Given the description of an element on the screen output the (x, y) to click on. 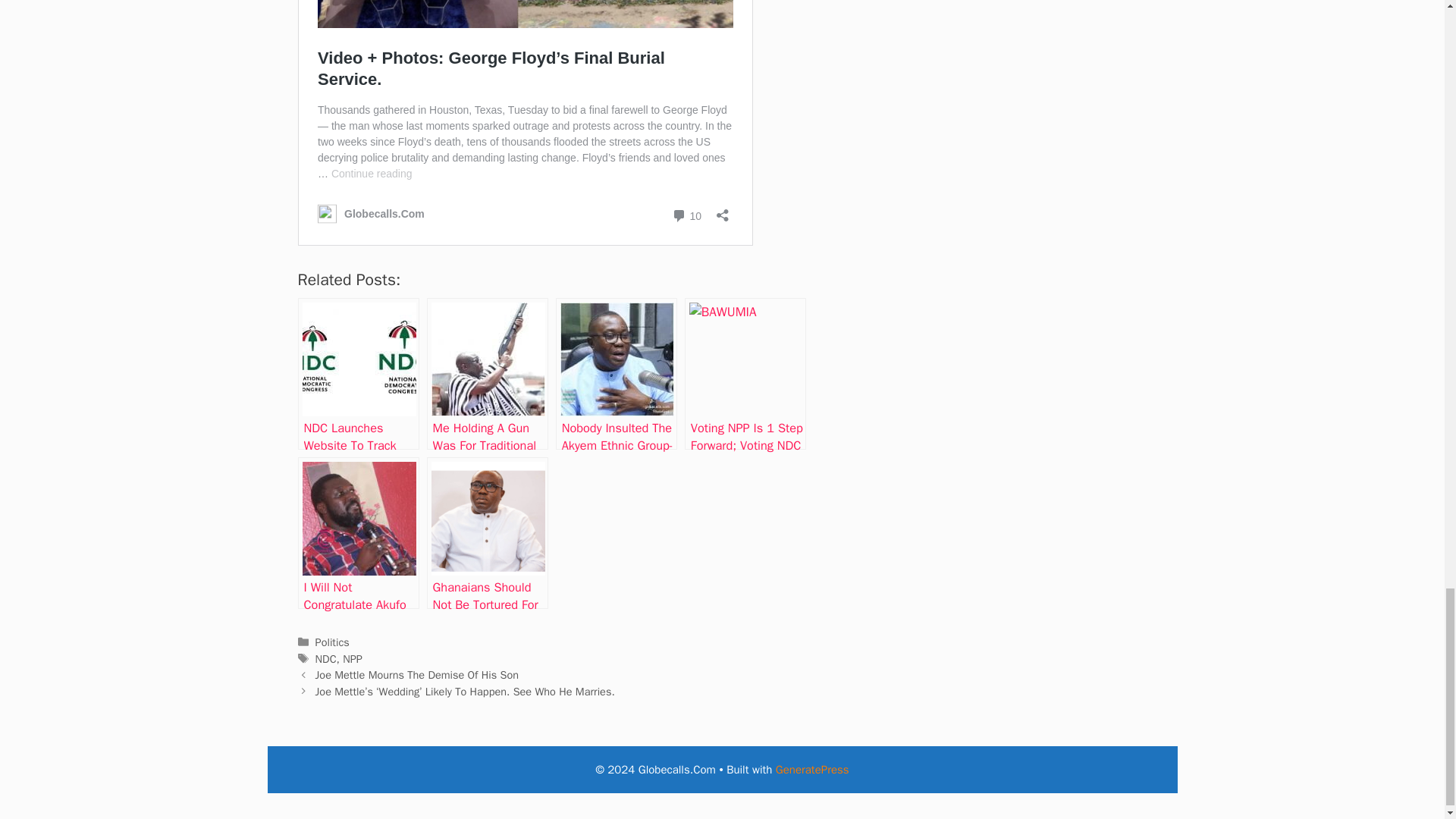
Joe Mettle Mourns The Demise Of His Son (416, 674)
Politics (332, 642)
NDC (325, 658)
NPP (352, 658)
